Given the description of an element on the screen output the (x, y) to click on. 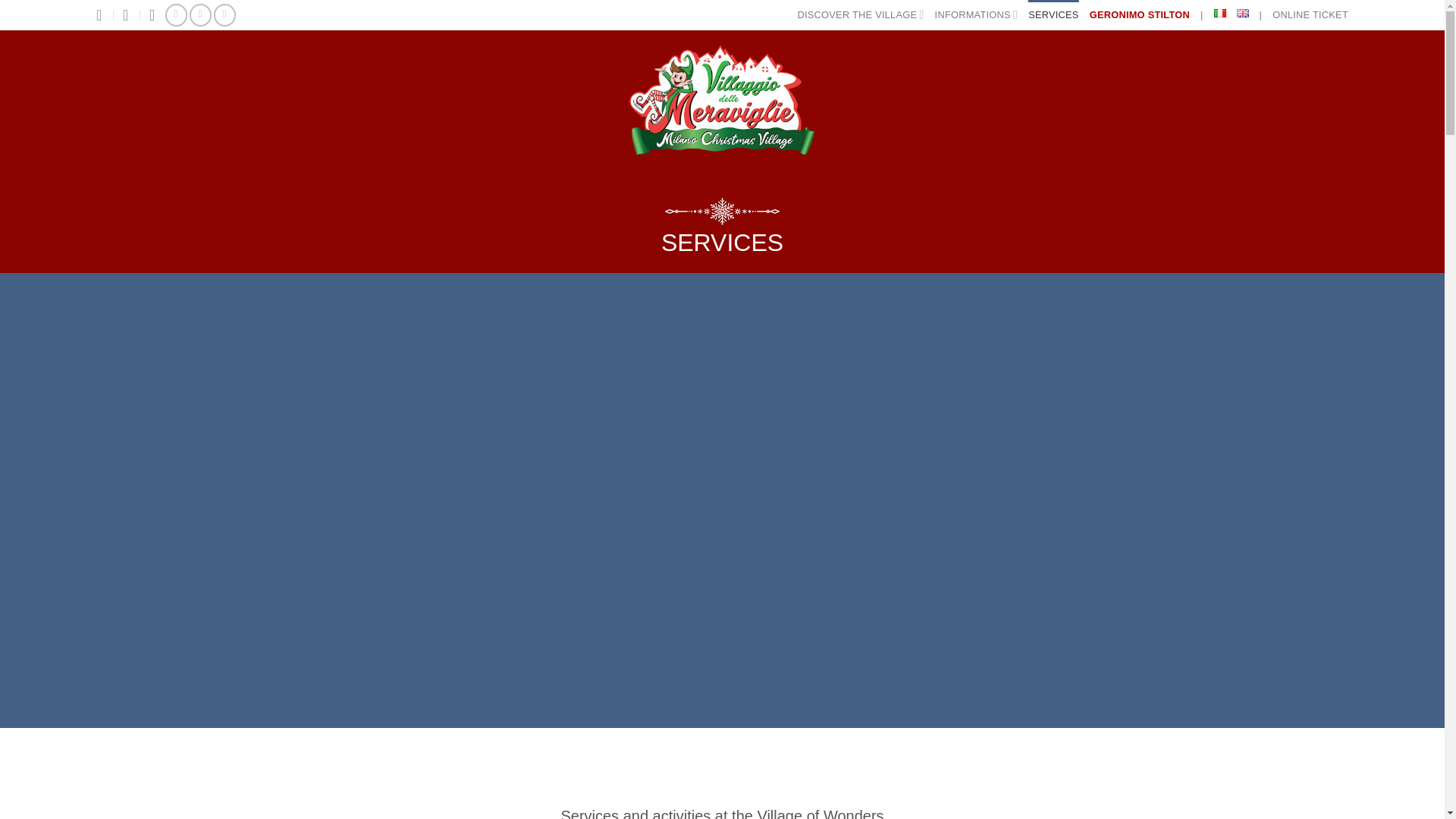
Follow on Facebook (176, 14)
SERVICES (1052, 15)
DISCOVER THE VILLAGE (860, 15)
ONLINE TICKET (1310, 15)
Follow on Instagram (200, 14)
GERONIMO STILTON (1139, 15)
Villaggio delle meraviglie - Milano Christmas Village (721, 100)
Follow on YouTube (224, 14)
INFORMATIONS (975, 15)
